Given the description of an element on the screen output the (x, y) to click on. 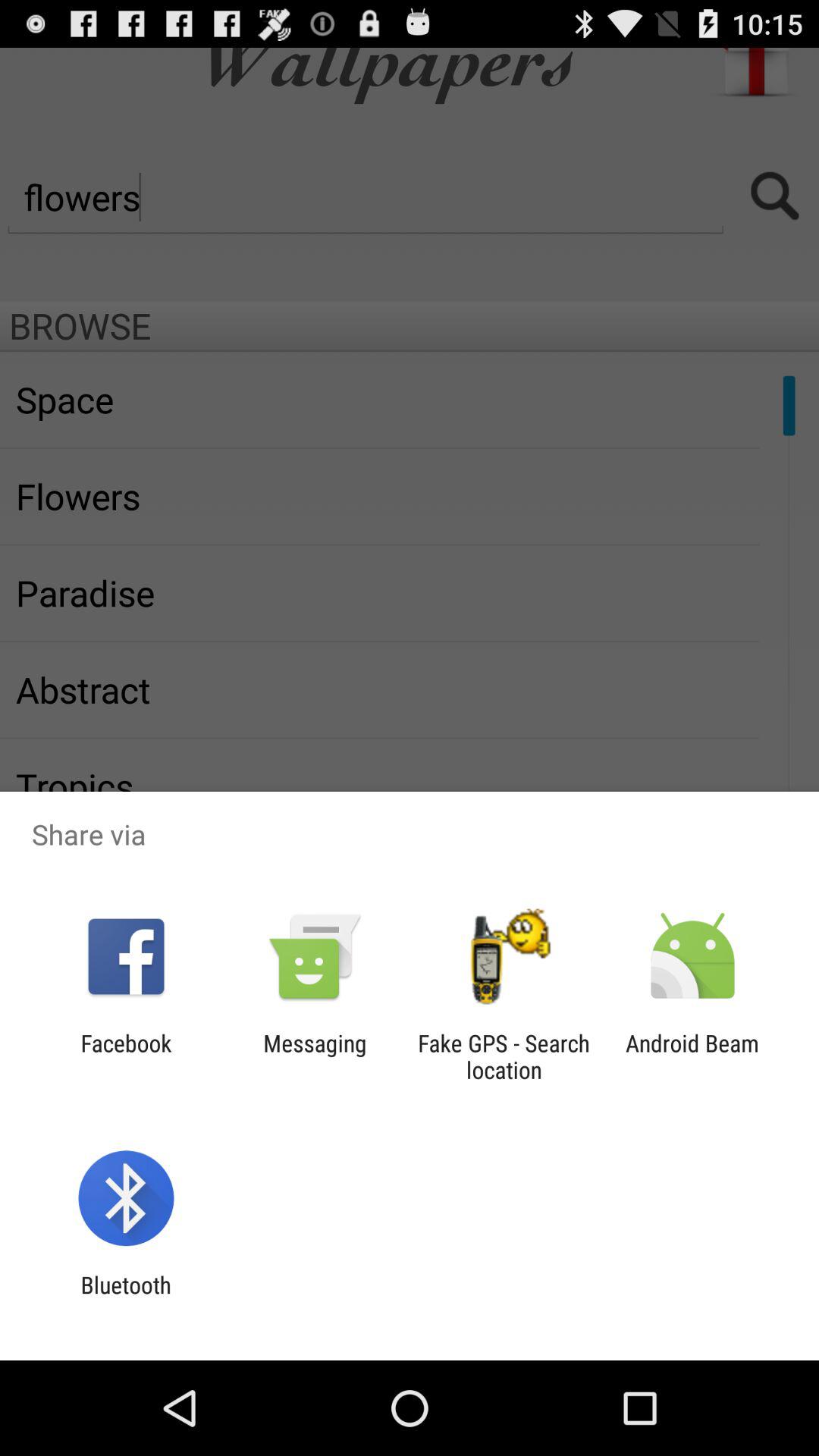
launch the fake gps search icon (503, 1056)
